Given the description of an element on the screen output the (x, y) to click on. 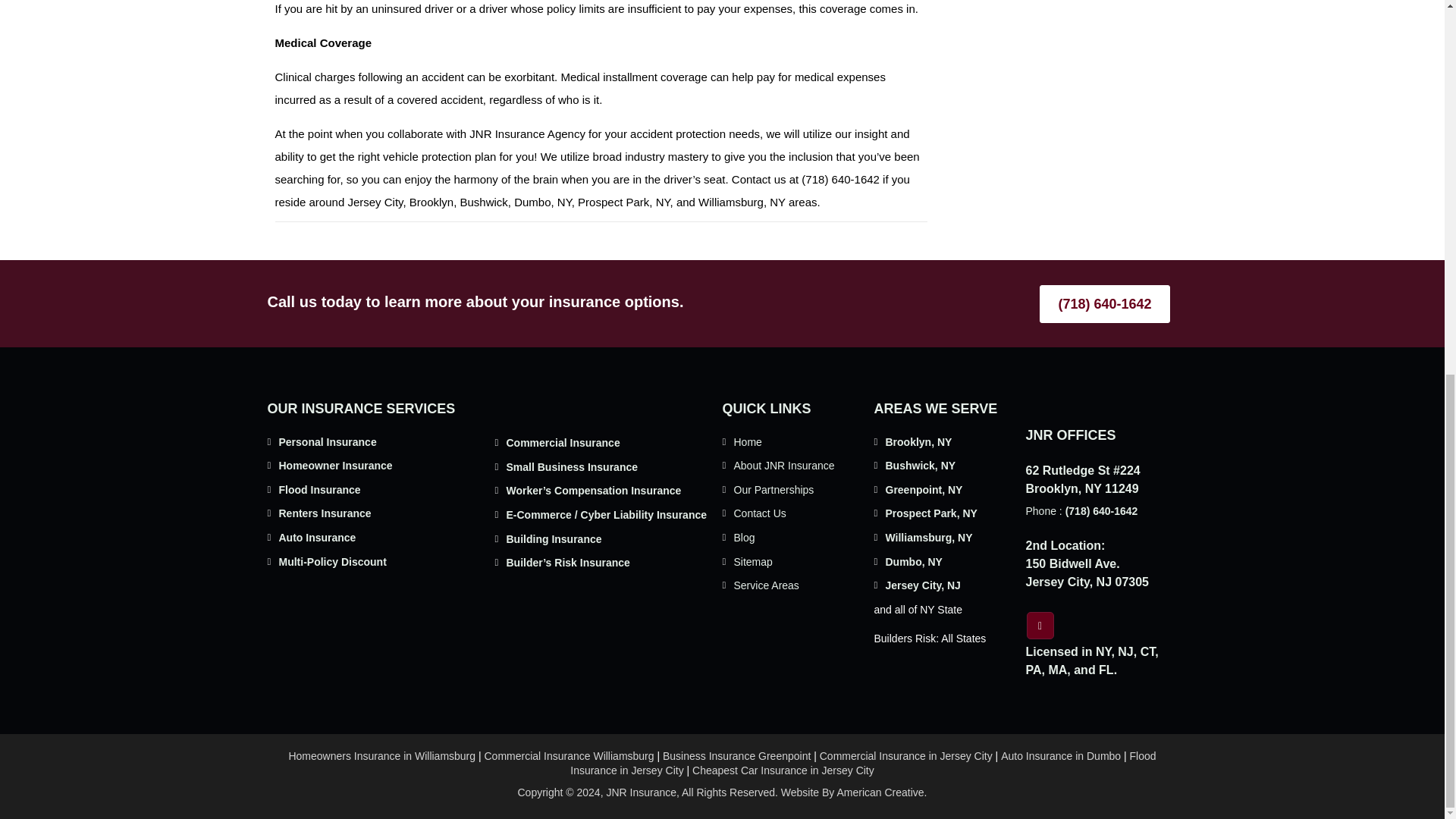
Commercial Insurance (563, 442)
Small Business Insurance (572, 467)
Building Insurance (554, 539)
Facebook (1040, 625)
Auto Insurance (317, 537)
Renters Insurance (325, 512)
Homeowner Insurance (336, 465)
Multi-Policy Discount (333, 562)
Flood Insurance (320, 490)
Personal Insurance (328, 441)
Contact us (759, 178)
JNR Insurance Agency (526, 133)
